Given the description of an element on the screen output the (x, y) to click on. 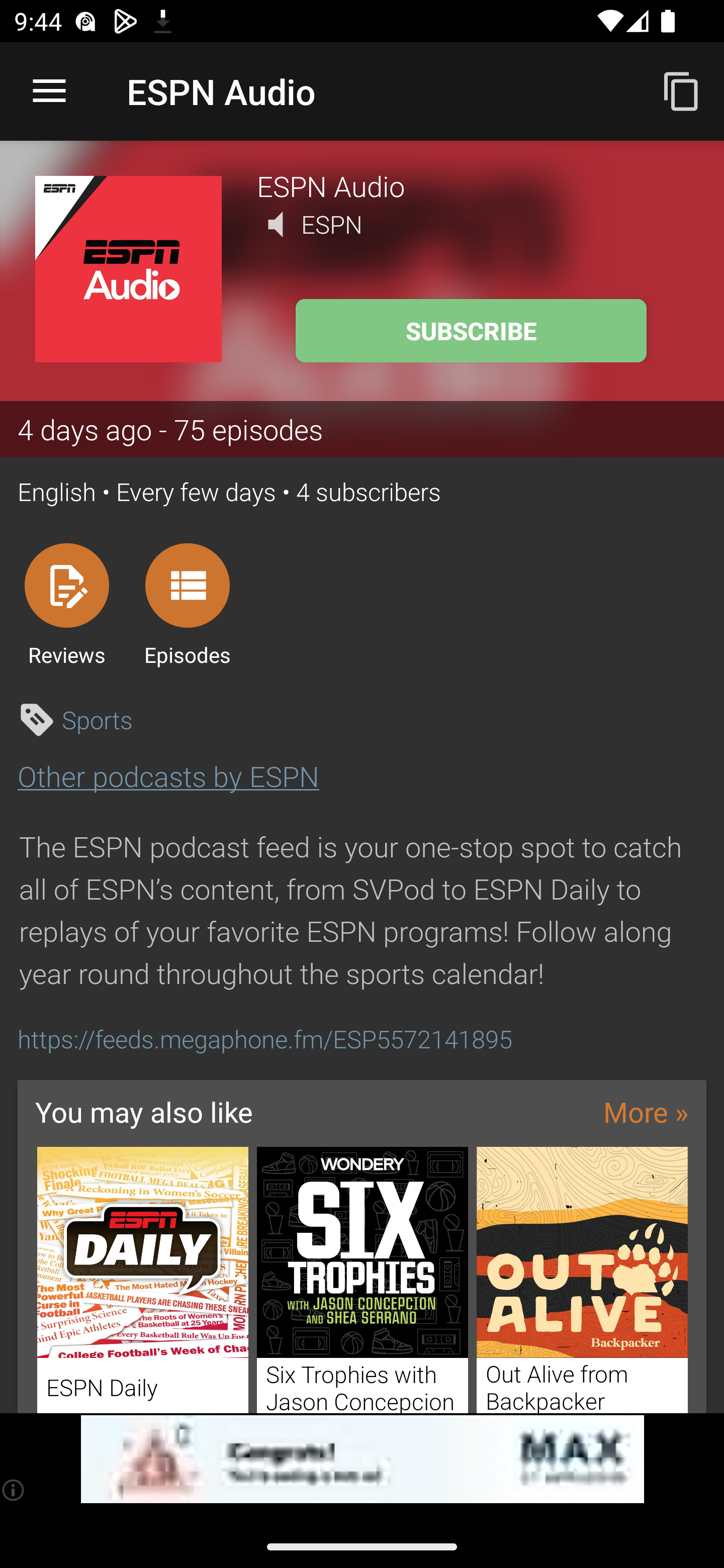
Open navigation sidebar (49, 91)
Copy feed url to clipboard (681, 90)
ESPN Audio (472, 185)
SUBSCRIBE (470, 330)
Reviews (66, 604)
Episodes (187, 604)
Other podcasts by ESPN (168, 775)
More » (645, 1111)
ESPN Daily (142, 1279)
Out Alive from Backpacker (581, 1279)
app-monetization (362, 1459)
(i) (14, 1489)
